Given the description of an element on the screen output the (x, y) to click on. 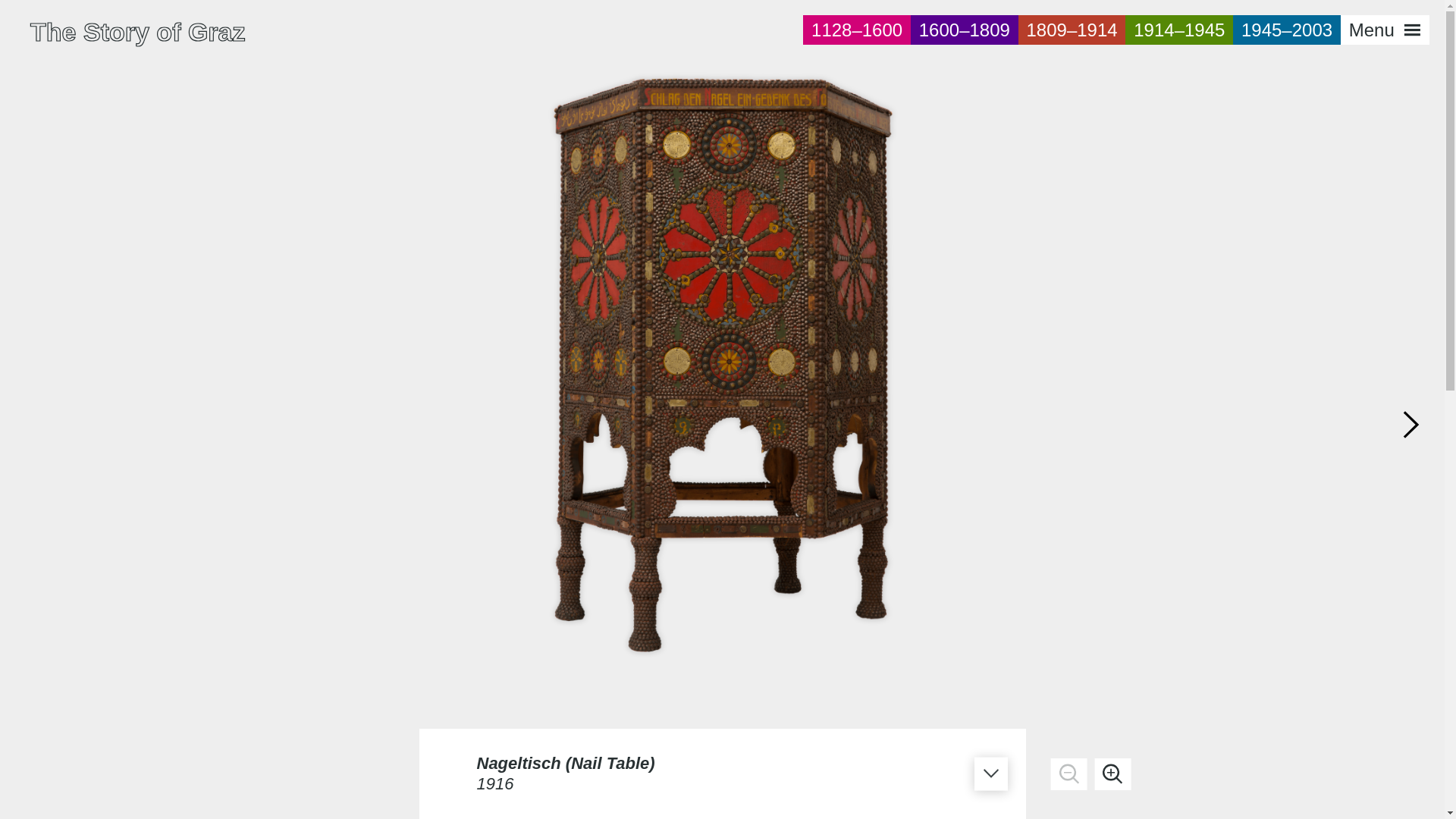
Created with Sketch. (990, 773)
Menu (1384, 30)
Created with Sketch. (1069, 774)
Created with Sketch. (990, 773)
Created with Sketch. (1113, 774)
The Story of Graz (1414, 426)
Created with Sketch. (1112, 774)
